Given the description of an element on the screen output the (x, y) to click on. 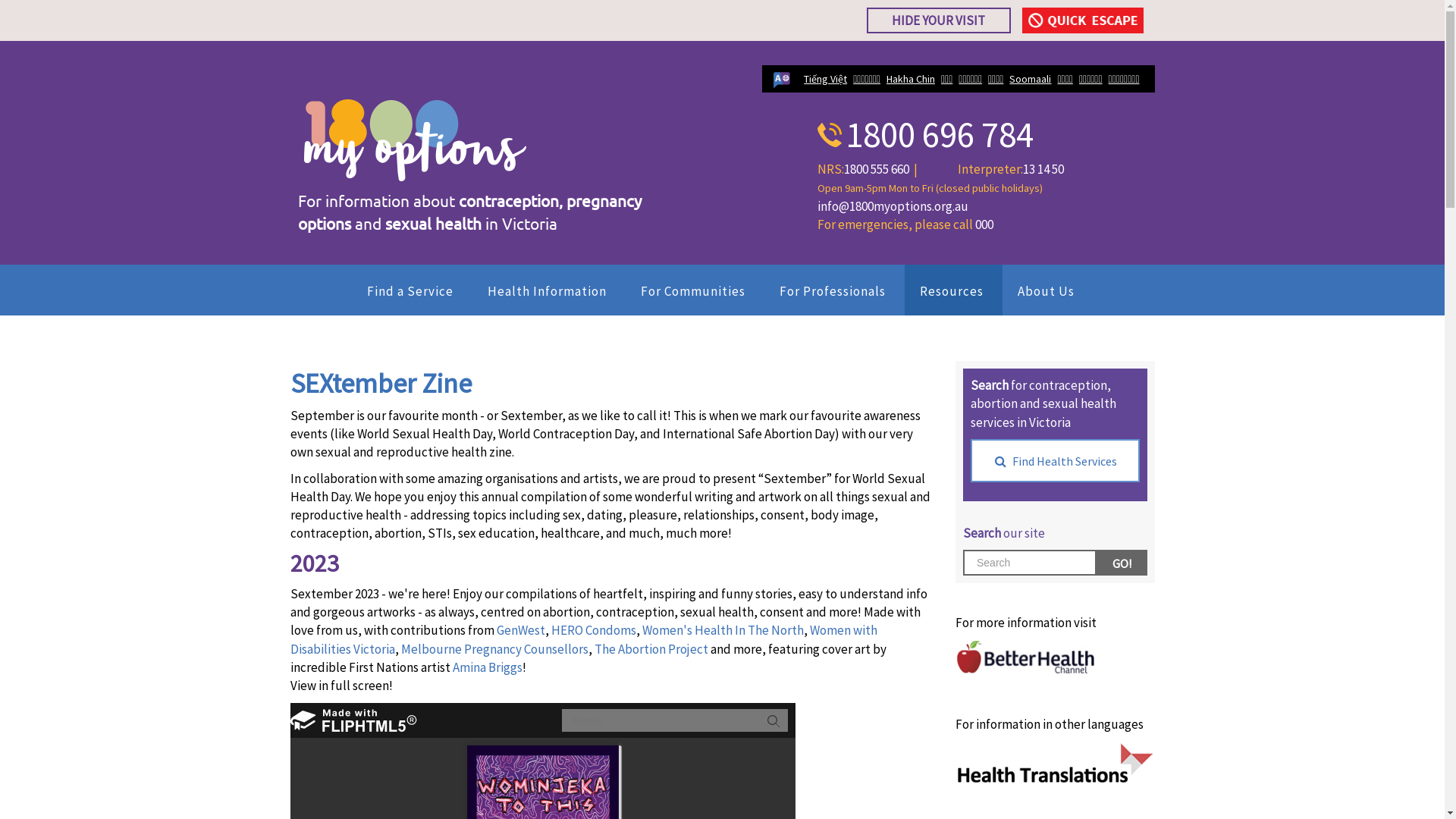
Amina Briggs Element type: text (486, 666)
Hakha Chin Element type: text (910, 78)
Find a Service Element type: text (411, 289)
Women's Health In The North Element type: text (722, 629)
Find Health Services Element type: text (1054, 460)
Go! Element type: text (1121, 562)
HERO Condoms Element type: text (592, 629)
1800 696 784 Element type: text (925, 134)
Skip to main content Element type: text (57, 0)
Women with Disabilities Victoria Element type: text (582, 638)
Soomaali Element type: text (1030, 78)
GenWest Element type: text (519, 629)
000 Element type: text (984, 224)
About Us Element type: text (1047, 289)
Enter the terms you wish to search for. Element type: hover (1029, 562)
Resources Element type: text (952, 289)
For Professionals Element type: text (834, 289)
Melbourne Pregnancy Counsellors Element type: text (493, 648)
1800 555 660 Element type: text (875, 168)
info@1800myoptions.org.au Element type: text (892, 205)
Health Translations Element type: hover (1054, 763)
Health Information Element type: text (547, 289)
The Abortion Project Element type: text (651, 648)
13 14 50 Element type: text (1042, 168)
For Communities Element type: text (693, 289)
